Given the description of an element on the screen output the (x, y) to click on. 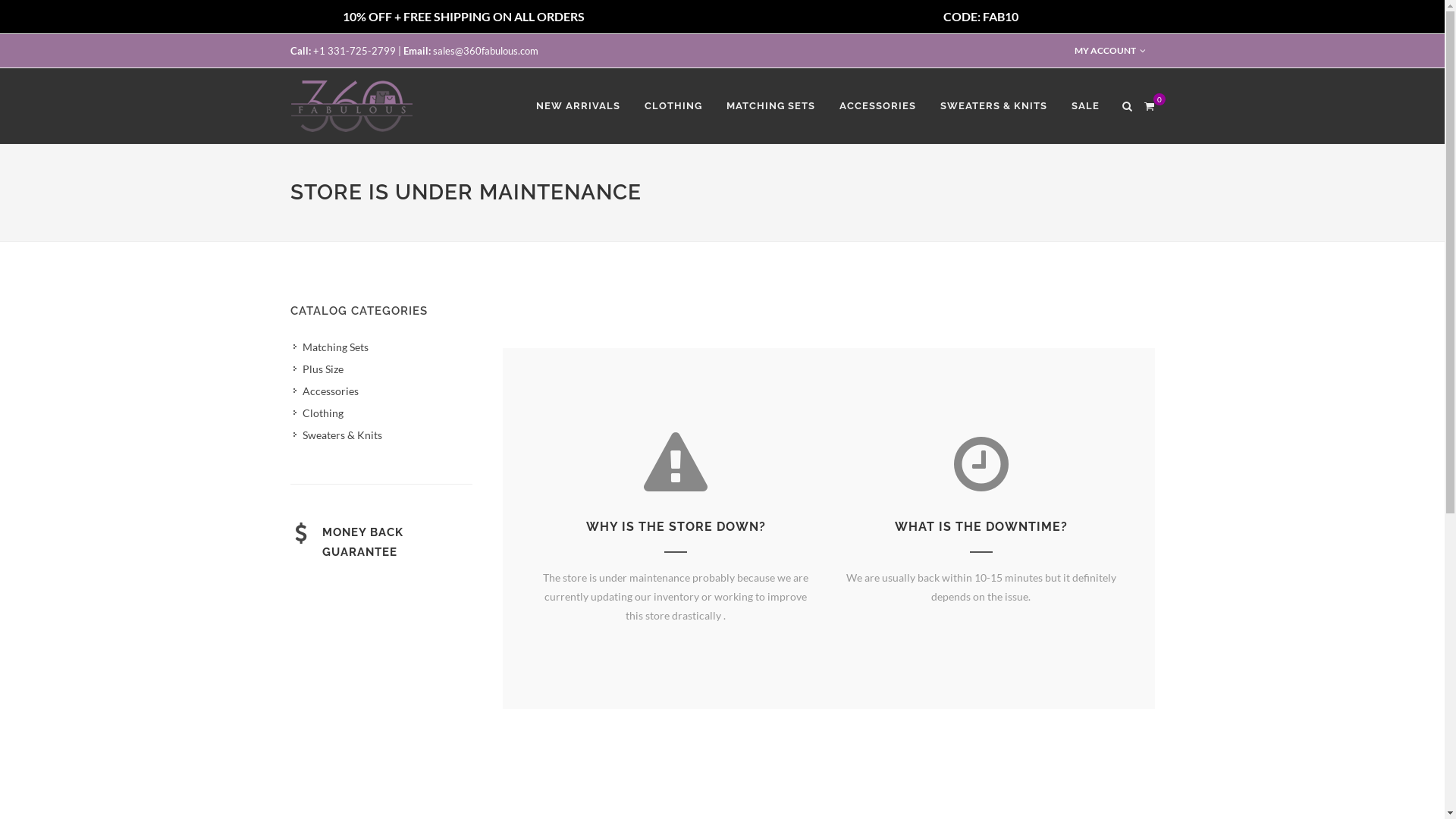
Matching Sets Element type: text (331, 346)
NEW ARRIVALS Element type: text (577, 106)
0 Element type: text (1148, 103)
Sweaters & Knits Element type: text (337, 434)
ACCESSORIES Element type: text (877, 106)
MY ACCOUNT Element type: text (1109, 50)
SALE Element type: text (1085, 106)
SWEATERS & KNITS Element type: text (992, 106)
+1 331-725-2799 Element type: text (353, 50)
MATCHING SETS Element type: text (769, 106)
Plus Size Element type: text (318, 368)
Accessories Element type: text (326, 390)
CLOTHING Element type: text (672, 106)
sales@360fabulous.com Element type: text (484, 50)
Clothing Element type: text (318, 412)
